Given the description of an element on the screen output the (x, y) to click on. 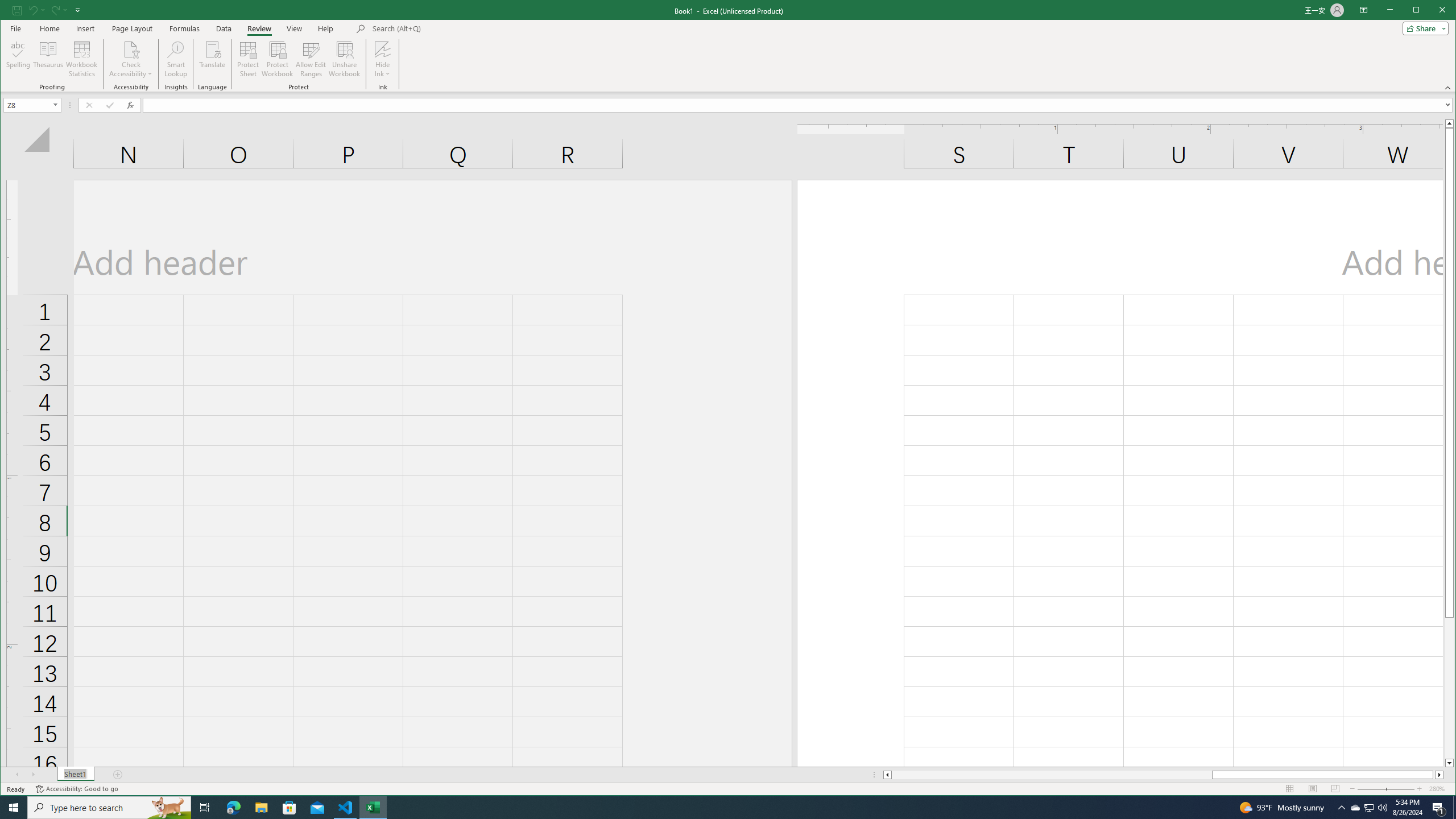
Workbook Statistics (82, 59)
Translate (1368, 807)
Protect Sheet... (212, 59)
Task View (247, 59)
